Given the description of an element on the screen output the (x, y) to click on. 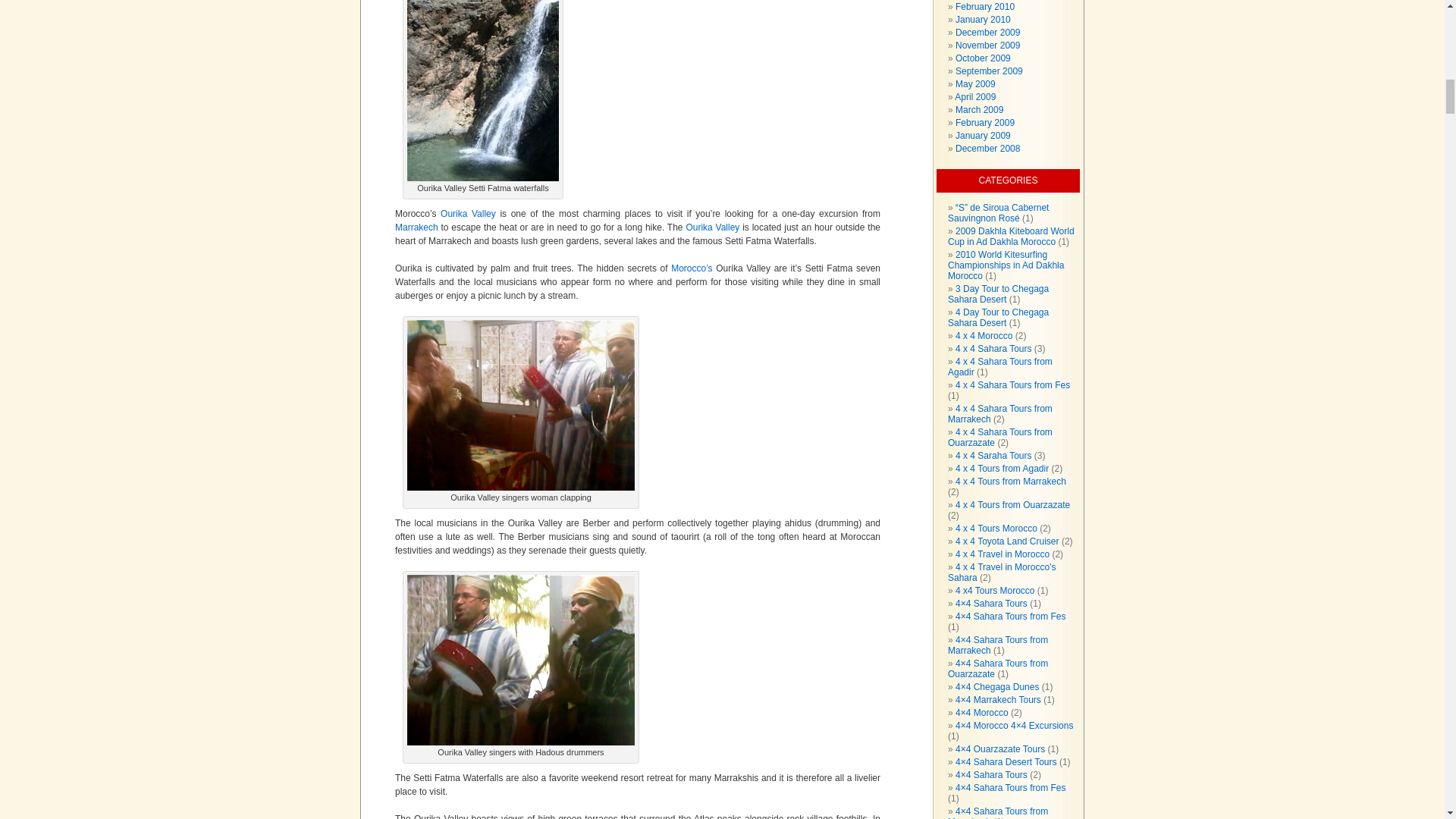
Ourika-Valley-Singers-Woman-clapping (520, 405)
Ourika-Valley-Singers-with Hadous-drumming (520, 659)
